Given the description of an element on the screen output the (x, y) to click on. 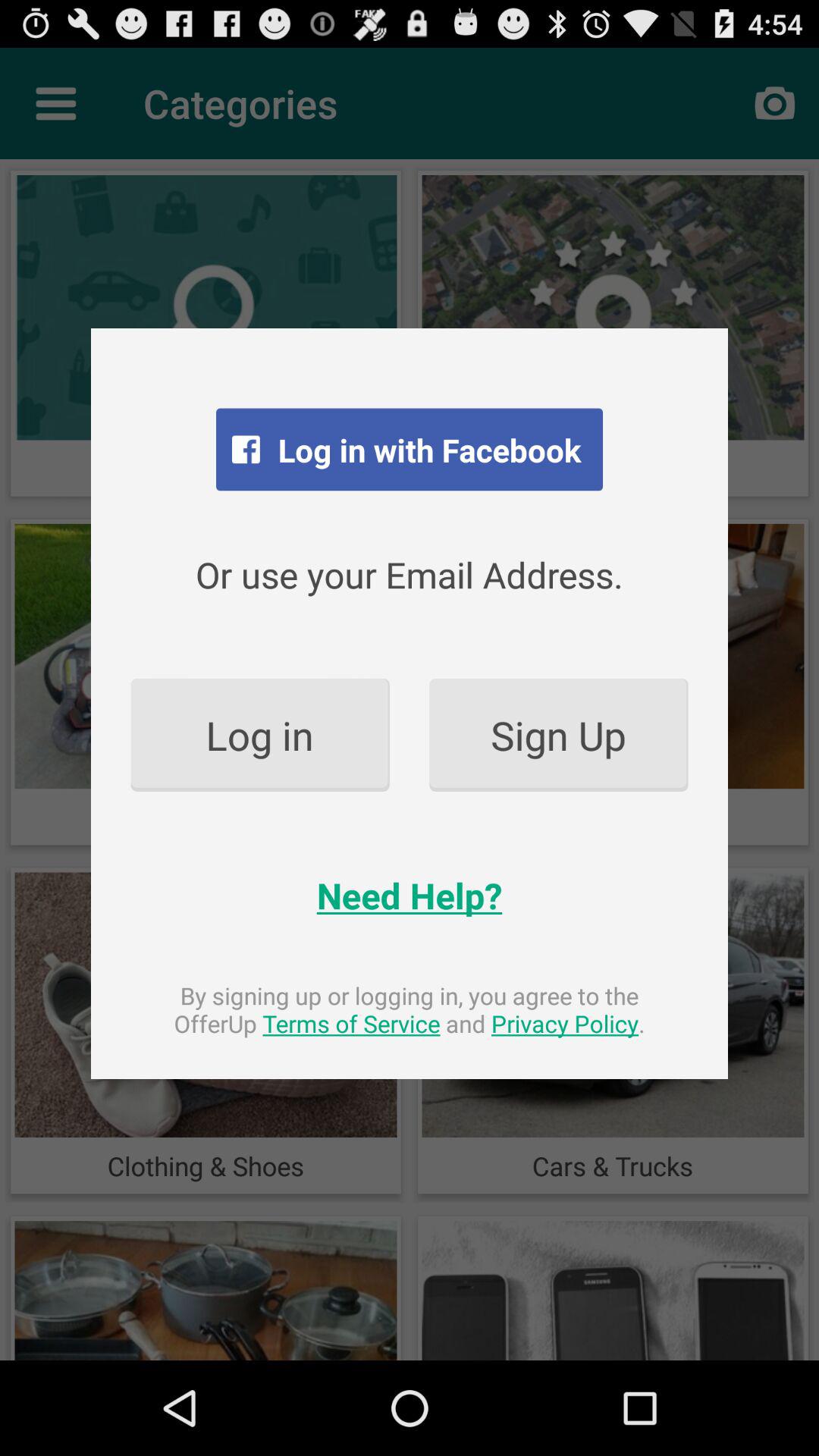
tap the sign up item (558, 734)
